Given the description of an element on the screen output the (x, y) to click on. 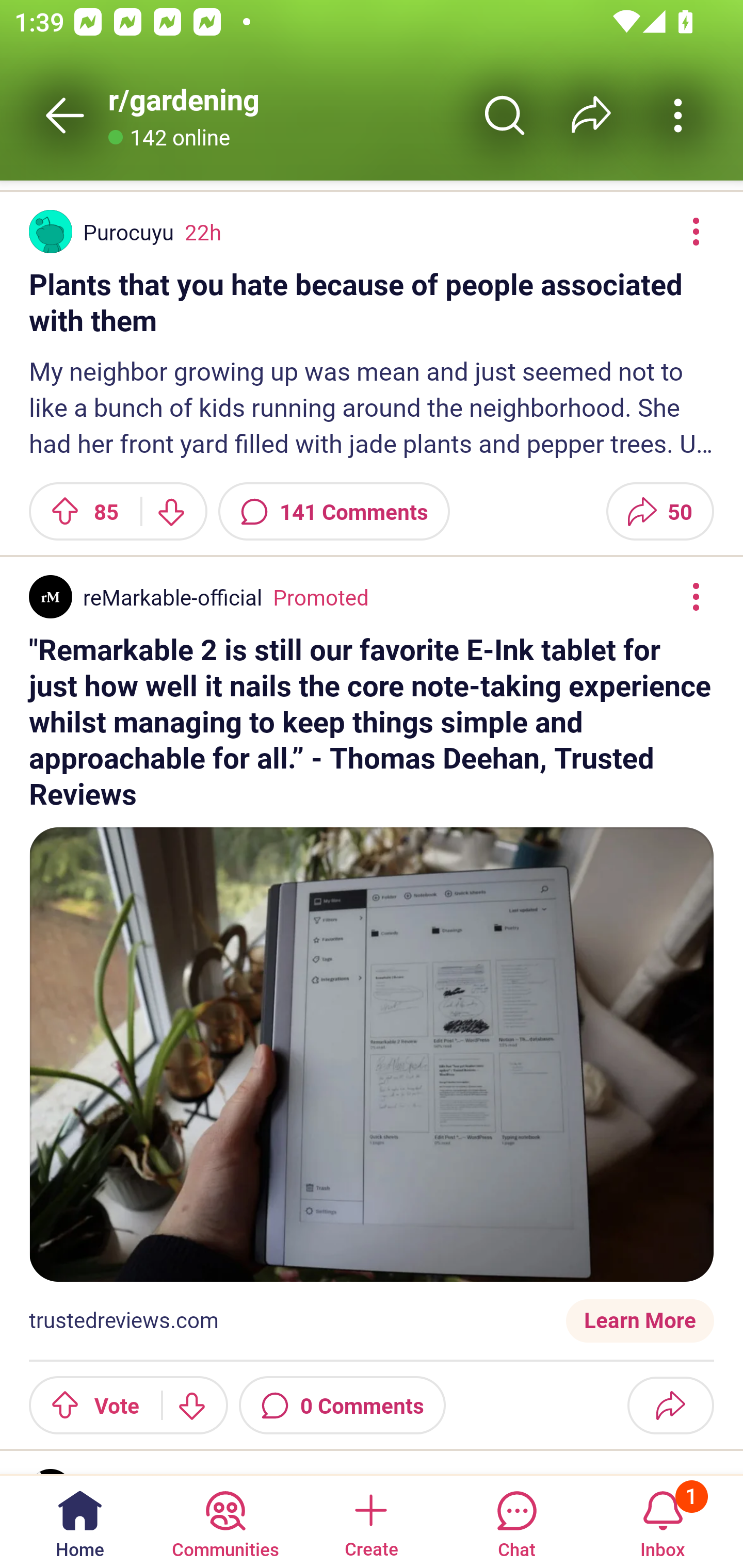
Back (64, 115)
Search r/﻿gardening (504, 115)
Share r/﻿gardening (591, 115)
More community actions (677, 115)
Home (80, 1520)
Communities (225, 1520)
Create a post Create (370, 1520)
Chat (516, 1520)
Inbox, has 1 notification 1 Inbox (662, 1520)
